Given the description of an element on the screen output the (x, y) to click on. 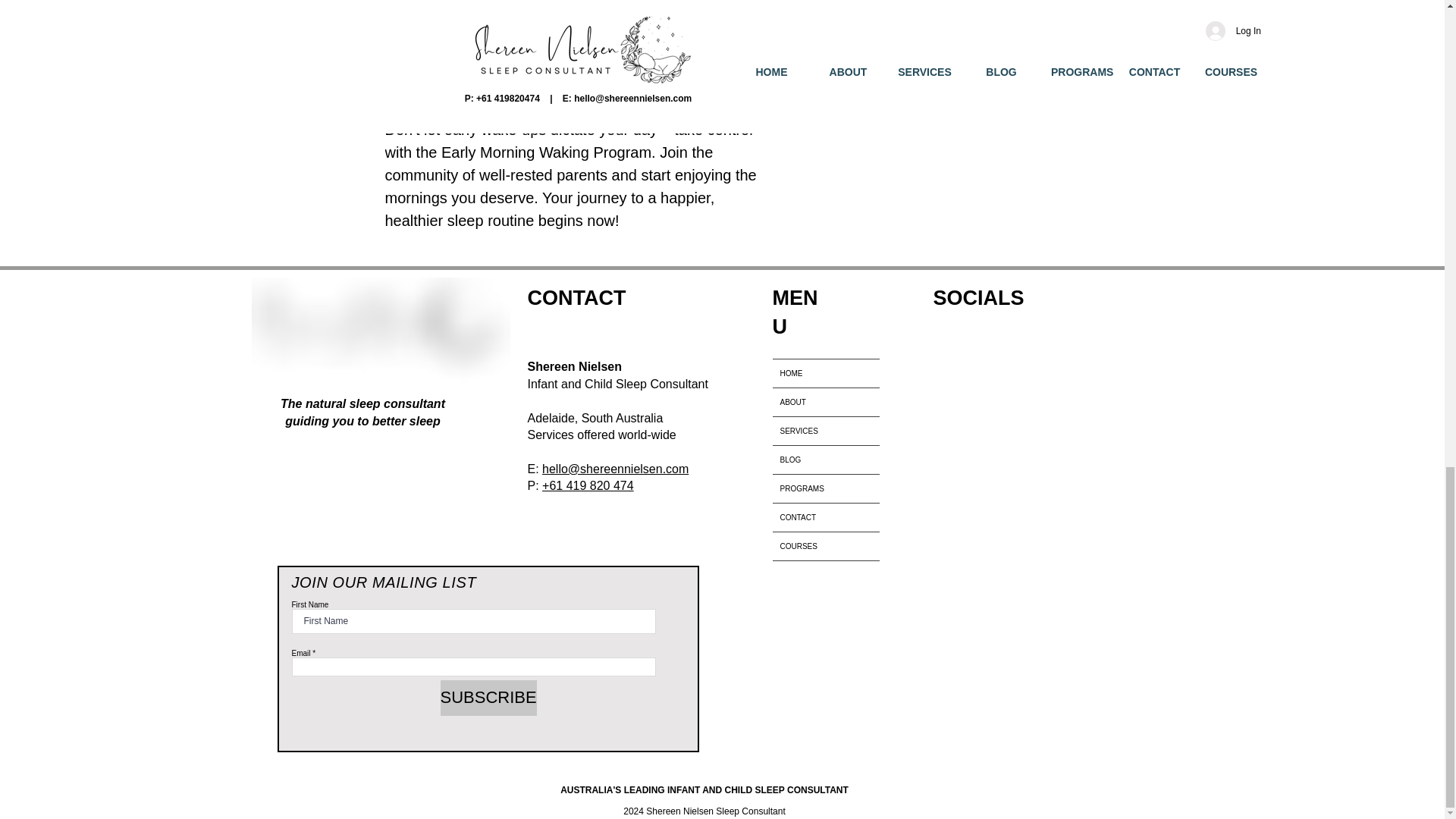
SERVICES (825, 430)
PROGRAMS (825, 488)
BLOG (825, 459)
CONTACT (825, 517)
HOME (825, 373)
SUBSCRIBE (487, 697)
Transparent.png (381, 331)
COURSES (825, 546)
ABOUT (825, 402)
E: (535, 468)
